Given the description of an element on the screen output the (x, y) to click on. 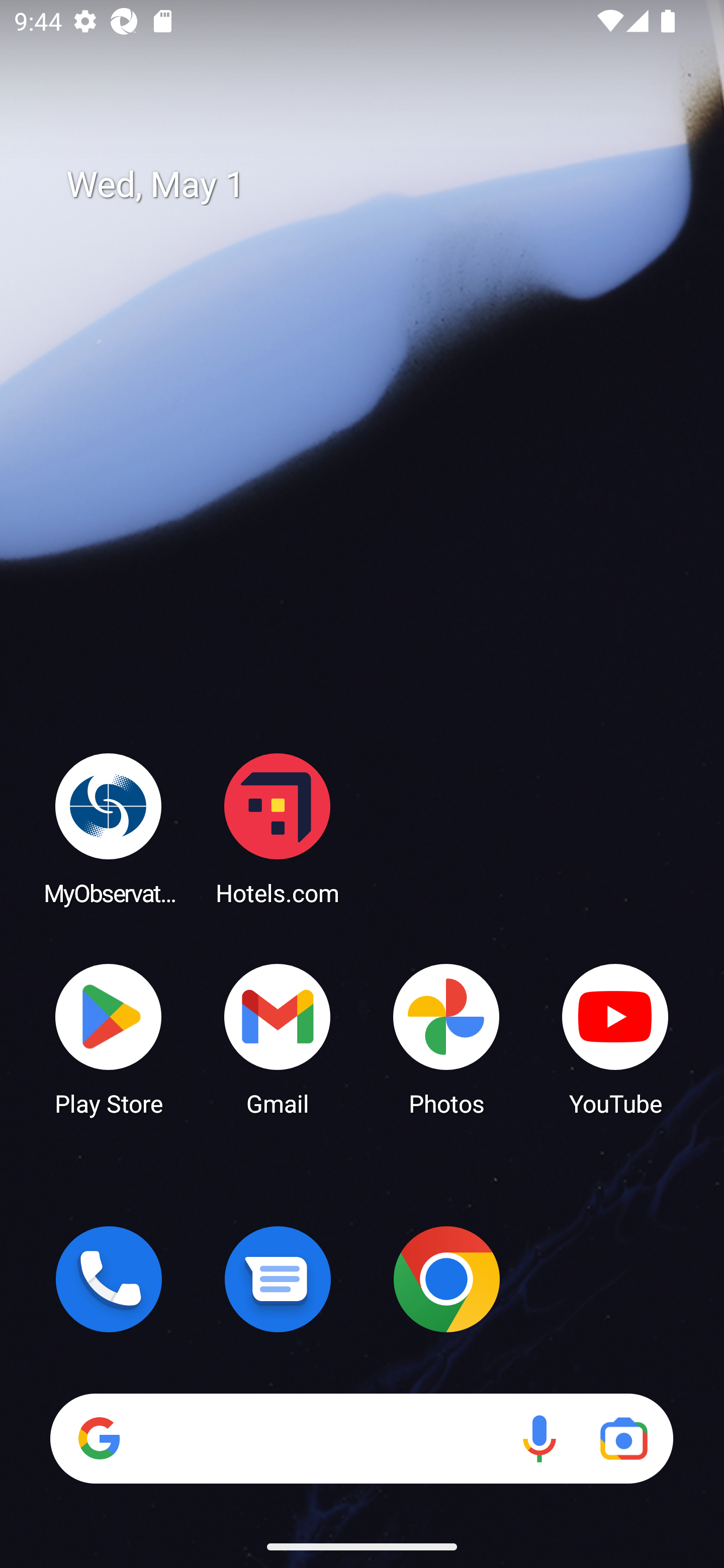
Wed, May 1 (375, 184)
MyObservatory (108, 828)
Hotels.com (277, 828)
Play Store (108, 1038)
Gmail (277, 1038)
Photos (445, 1038)
YouTube (615, 1038)
Phone (108, 1279)
Messages (277, 1279)
Chrome (446, 1279)
Search Voice search Google Lens (361, 1438)
Voice search (539, 1438)
Google Lens (623, 1438)
